Given the description of an element on the screen output the (x, y) to click on. 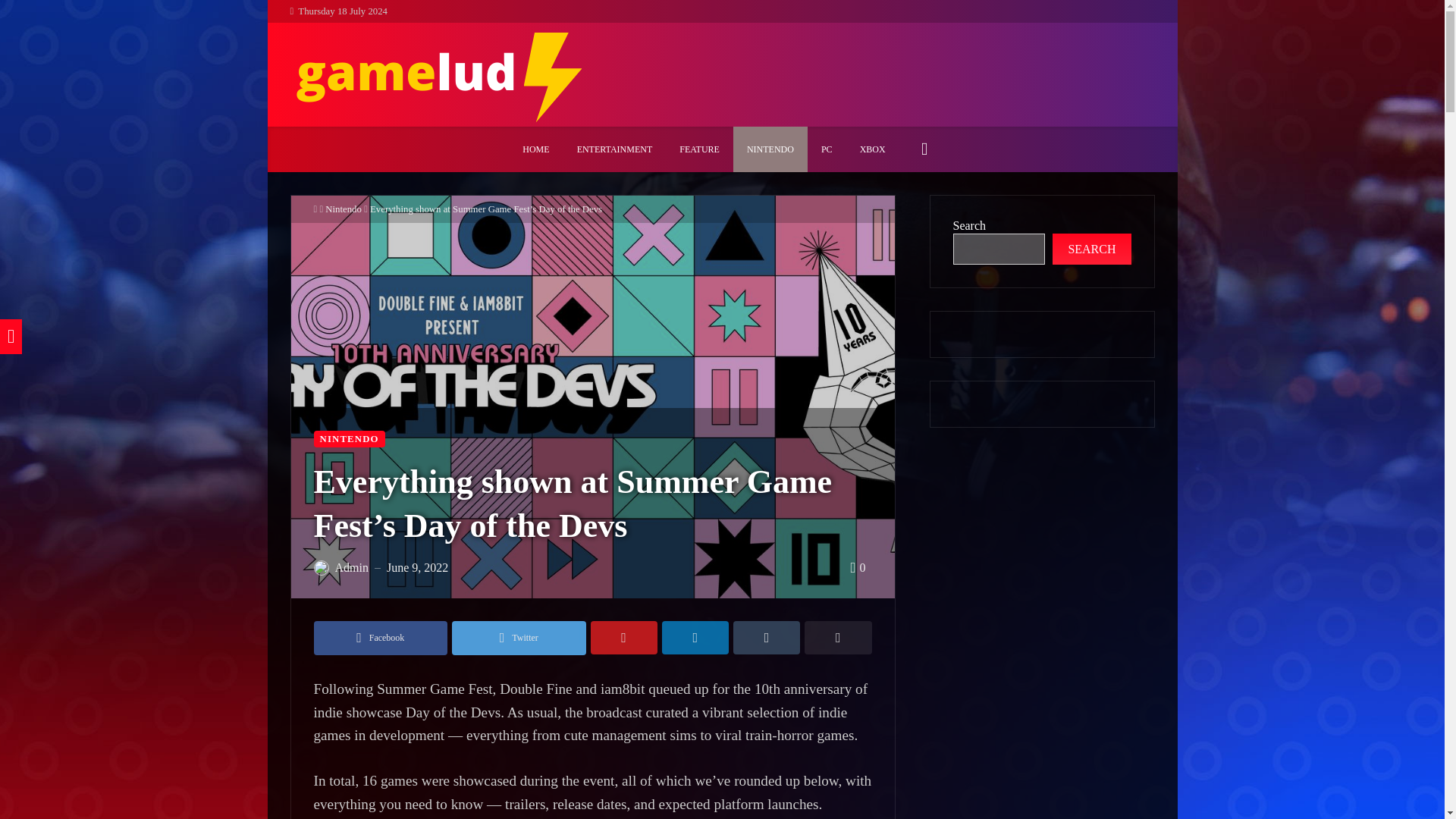
HOME (535, 148)
Facebook (381, 637)
Nintendo (342, 208)
0 (857, 567)
NINTENDO (349, 438)
June 9, 2022 (417, 567)
FEATURE (699, 148)
XBOX (872, 148)
ENTERTAINMENT (614, 148)
Twitter (518, 637)
Admin (351, 567)
NINTENDO (770, 148)
